Given the description of an element on the screen output the (x, y) to click on. 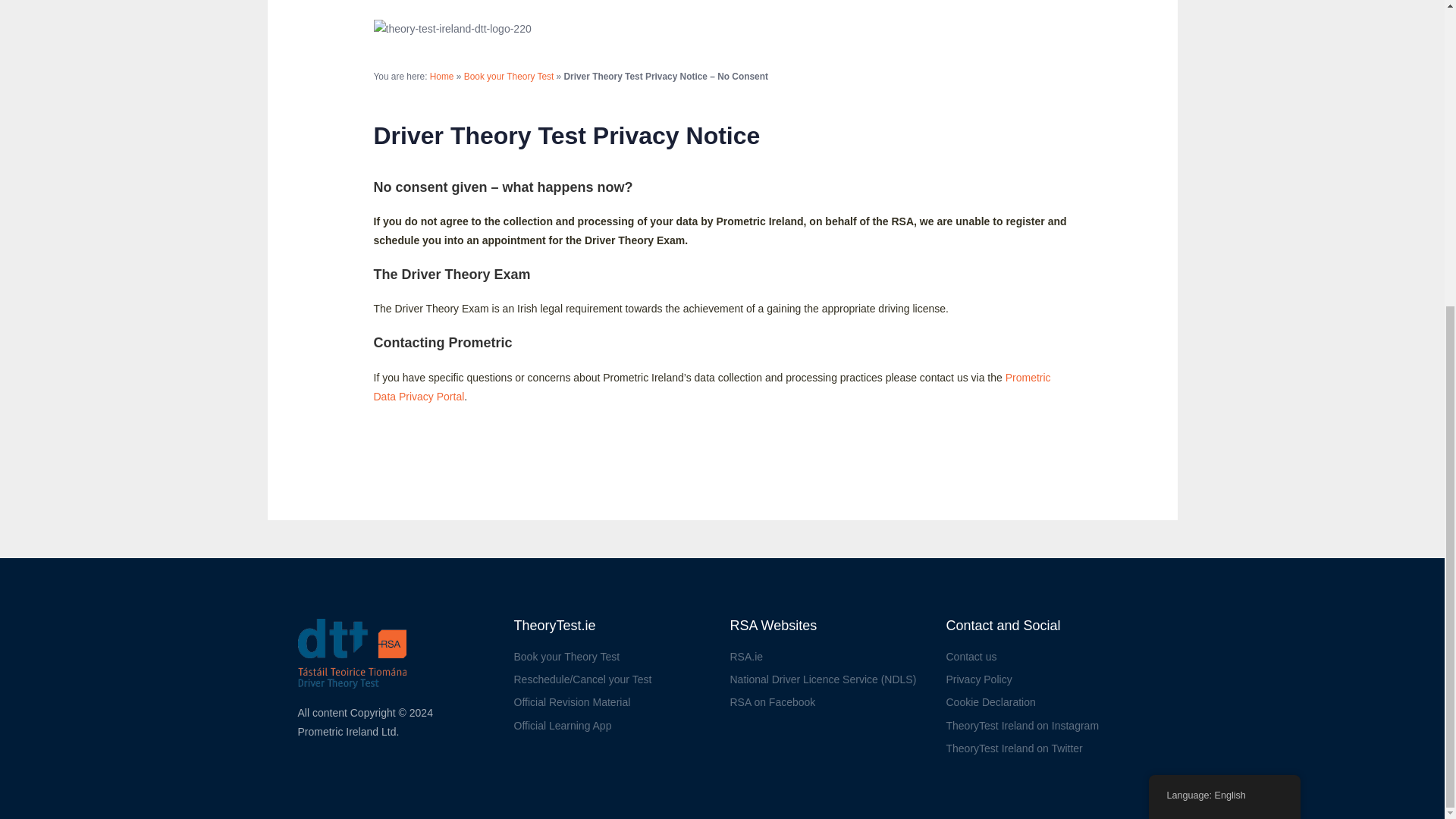
theory-test-ireland-dtt-logo-220 (451, 28)
